Given the description of an element on the screen output the (x, y) to click on. 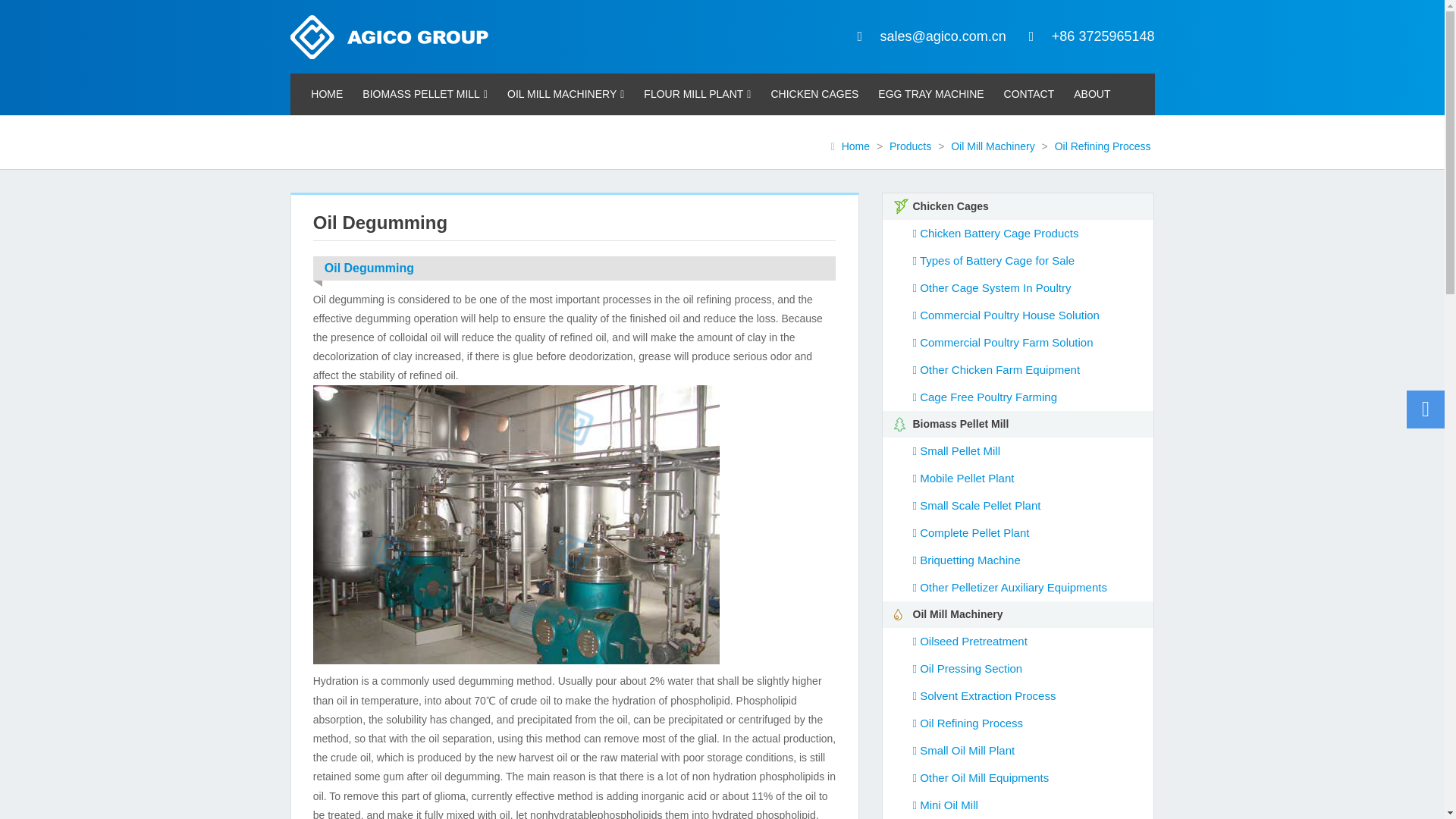
OIL MILL MACHINERY (565, 94)
FLOUR MILL PLANT (696, 94)
BIOMASS PELLET MILL (424, 94)
HOME (326, 94)
